Given the description of an element on the screen output the (x, y) to click on. 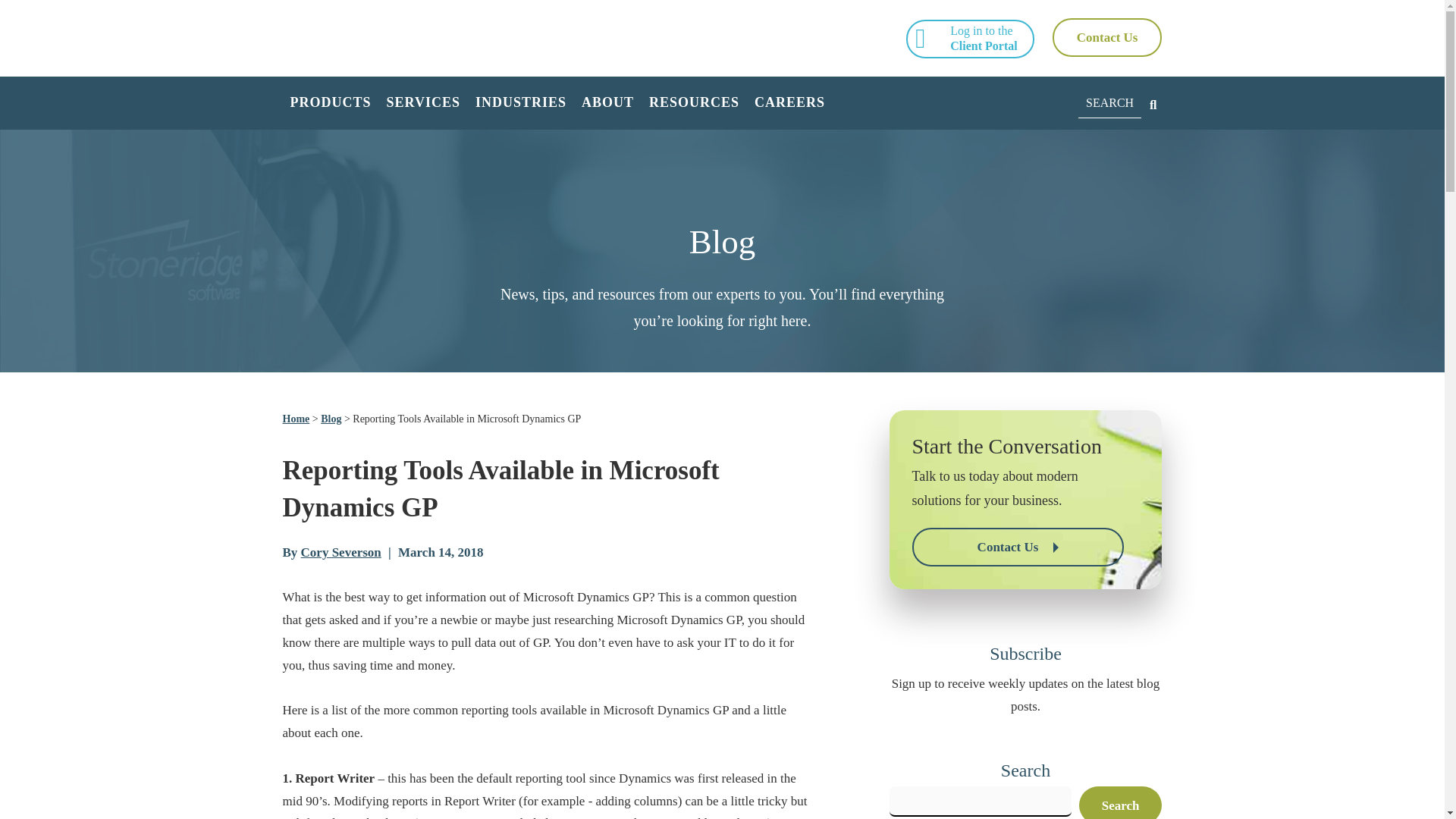
PRODUCTS (330, 102)
